Given the description of an element on the screen output the (x, y) to click on. 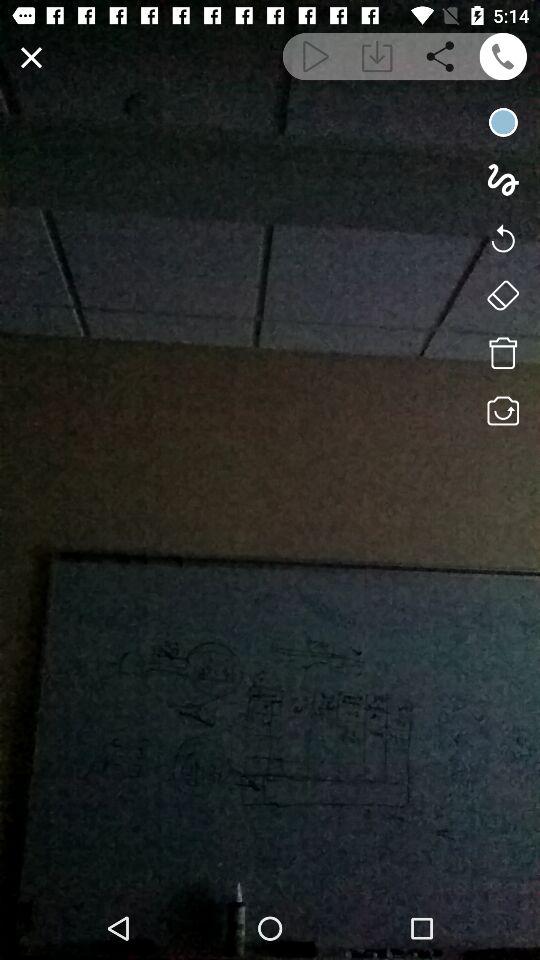
scroll down (376, 56)
